Given the description of an element on the screen output the (x, y) to click on. 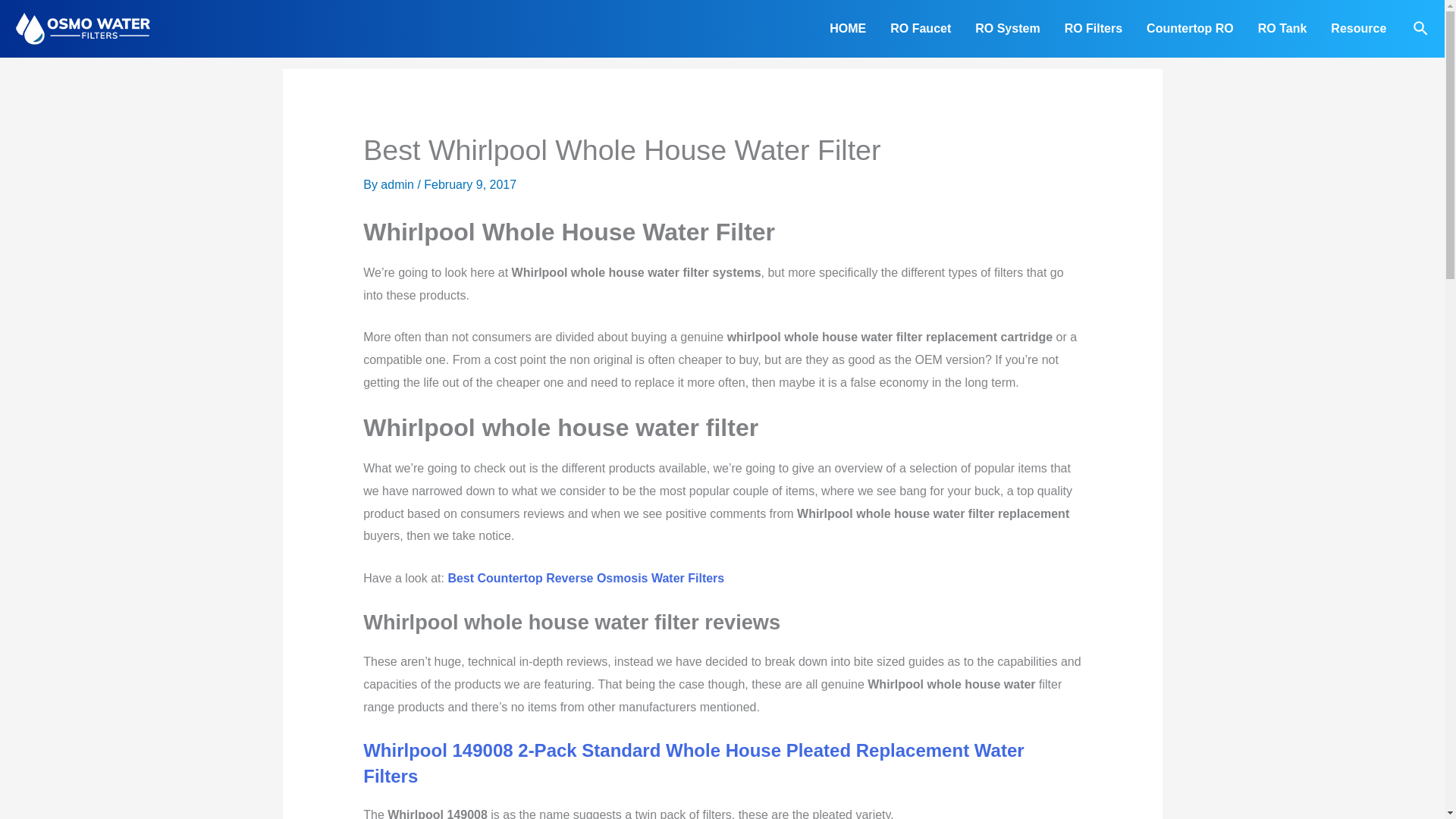
admin (398, 184)
View all posts by admin (398, 184)
RO System (1006, 28)
RO Filters (1093, 28)
RO Tank (1282, 28)
HOME (846, 28)
RO Faucet (919, 28)
Resource (1358, 28)
Best Countertop Reverse Osmosis Water Filters (584, 577)
Countertop RO (1190, 28)
